Given the description of an element on the screen output the (x, y) to click on. 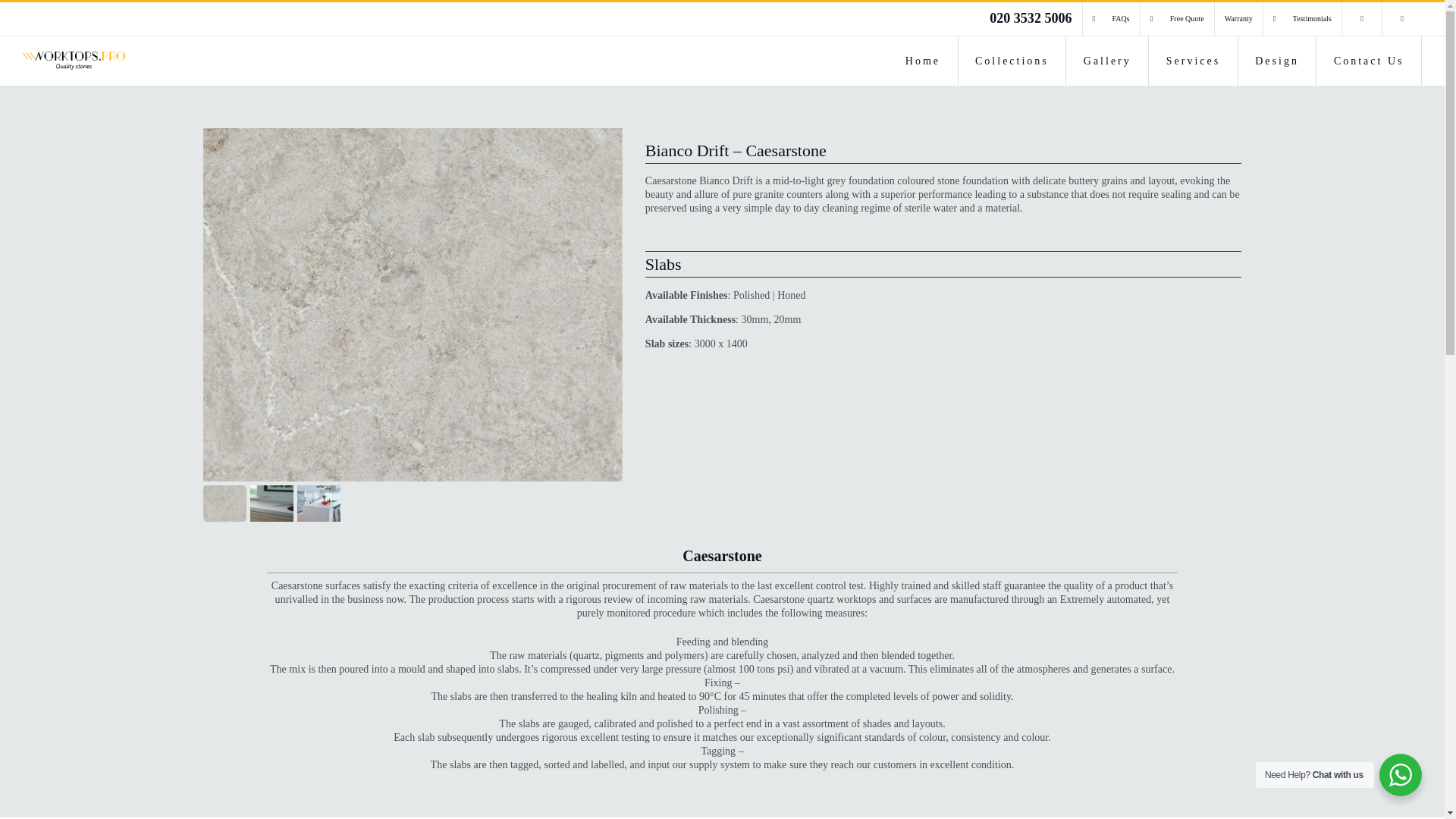
Home (922, 60)
FAQs (1111, 19)
020 3532 5006 (1030, 19)
Design (1277, 60)
Services (1192, 60)
Testimonials (1301, 19)
Free Quote (1177, 19)
Contact Us (1368, 60)
Gallery (1106, 60)
Warranty (1238, 19)
